Given the description of an element on the screen output the (x, y) to click on. 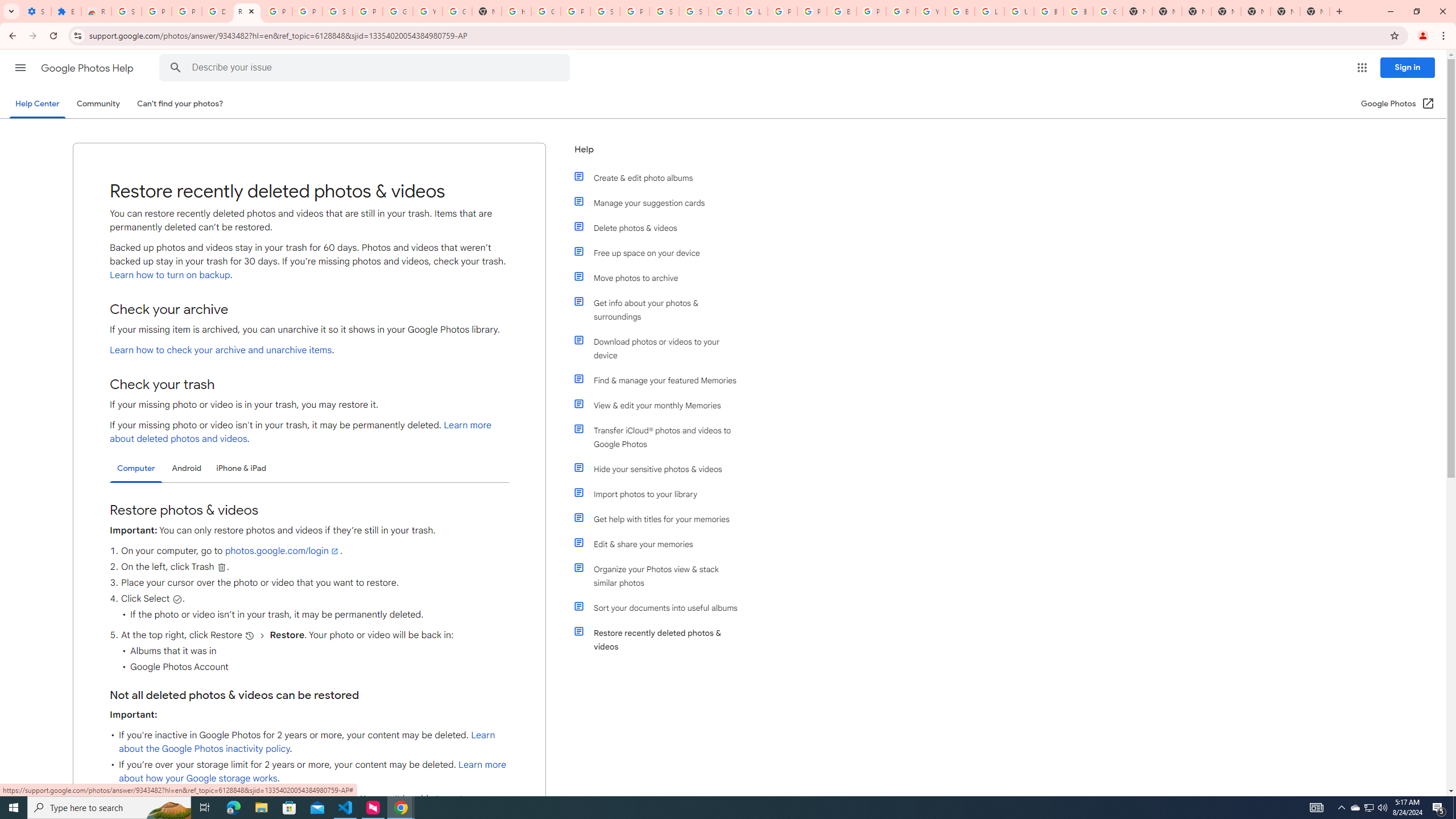
Sign in (1407, 67)
Computer (136, 469)
Google Images (1107, 11)
Learn about the Google Photos inactivity policy (307, 742)
System (6, 6)
